Given the description of an element on the screen output the (x, y) to click on. 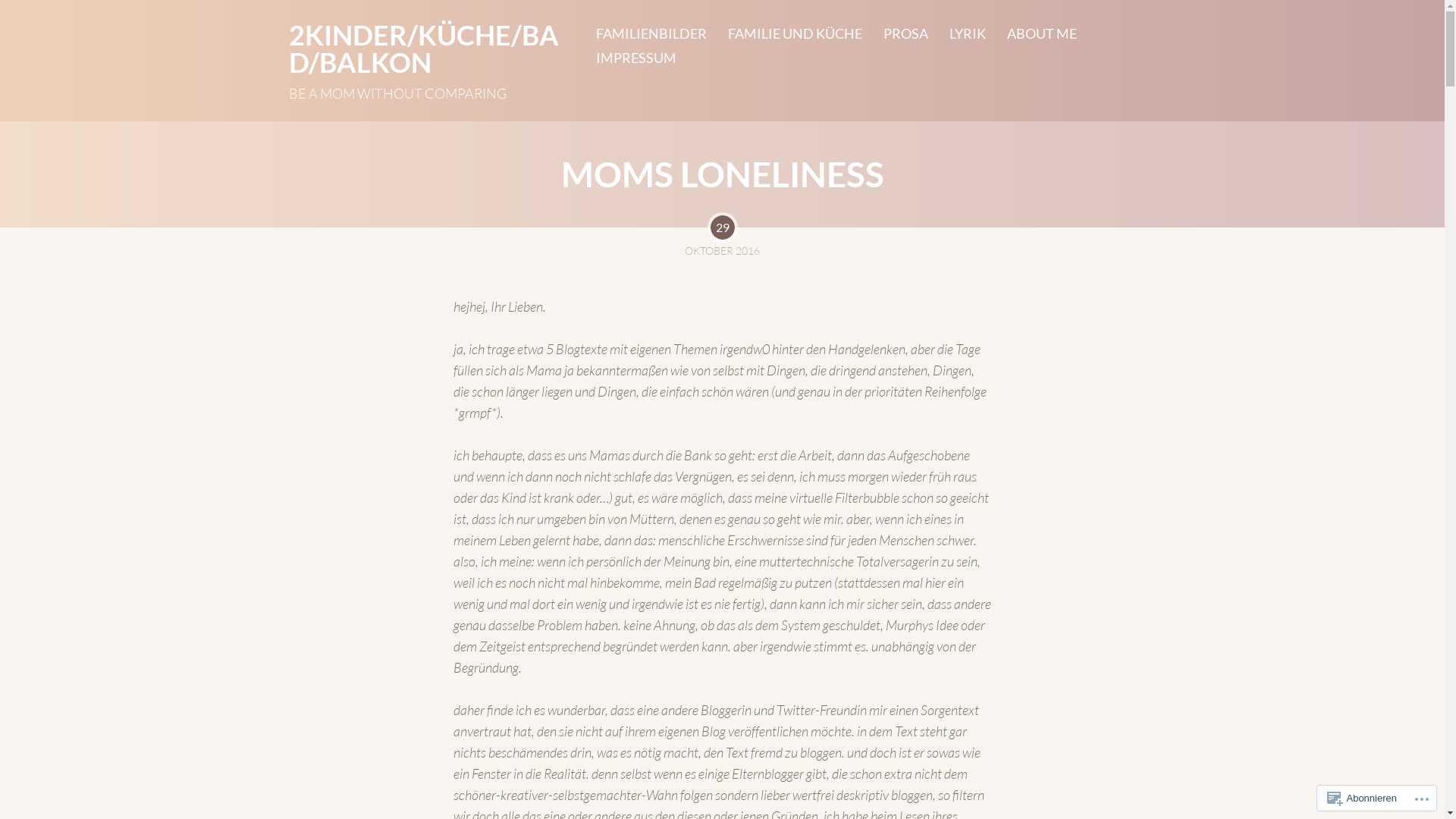
LYRIK Element type: text (956, 33)
PROSA Element type: text (895, 33)
FAMILIENBILDER Element type: text (640, 33)
IMPRESSUM Element type: text (625, 57)
Abonnieren Element type: text (1361, 797)
ABOUT ME Element type: text (1030, 33)
